Given the description of an element on the screen output the (x, y) to click on. 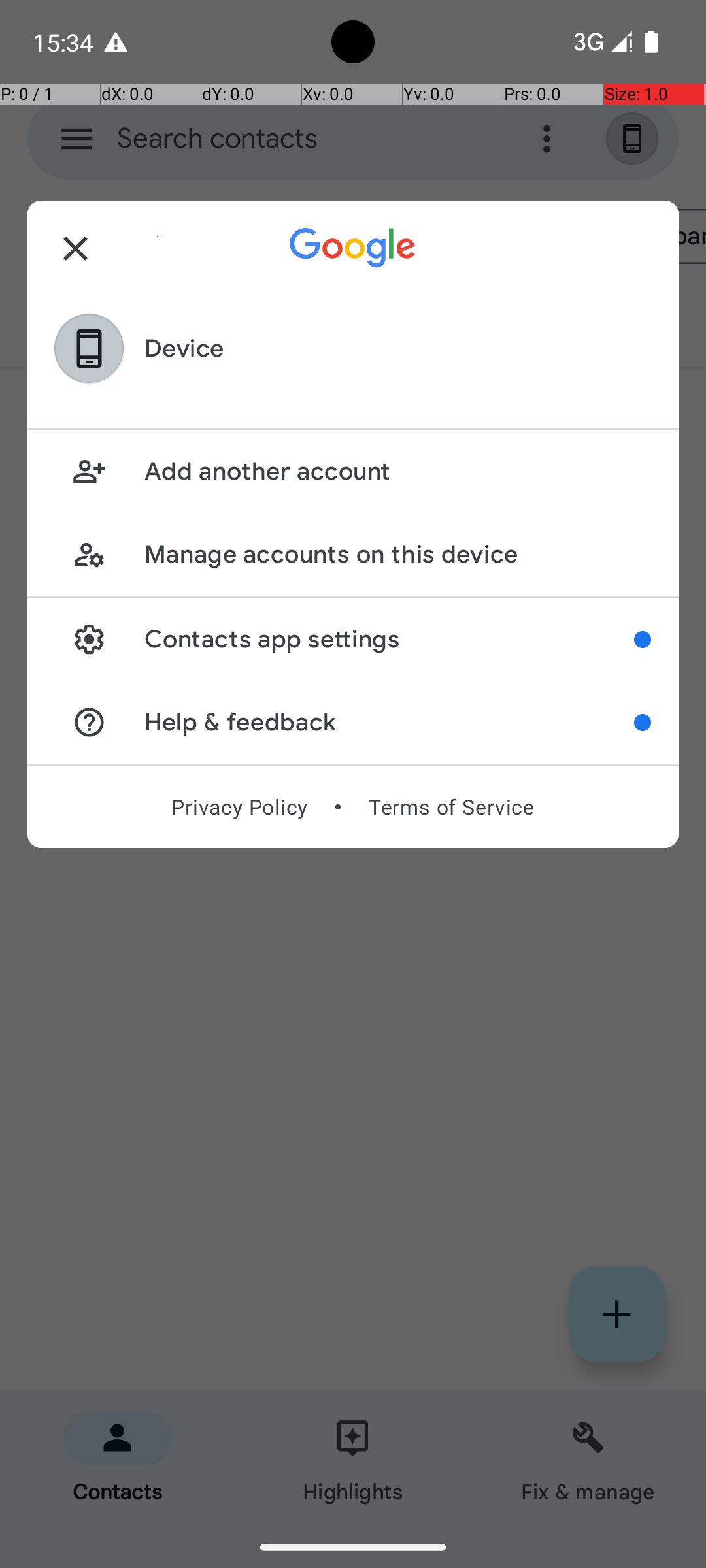
Close Element type: android.widget.ImageView (75, 248)
Privacy Policy Element type: android.widget.Button (239, 806)
Terms of Service Element type: android.widget.Button (450, 806)
Device Element type: android.widget.TextView (184, 348)
Add another account Element type: android.widget.TextView (397, 471)
Manage accounts on this device Element type: android.widget.TextView (397, 554)
Contacts app settings Element type: android.widget.TextView (389, 638)
Now you can find Settings and Help & feedback here Element type: android.widget.FrameLayout (642, 639)
Help & feedback Element type: android.widget.TextView (389, 721)
